Given the description of an element on the screen output the (x, y) to click on. 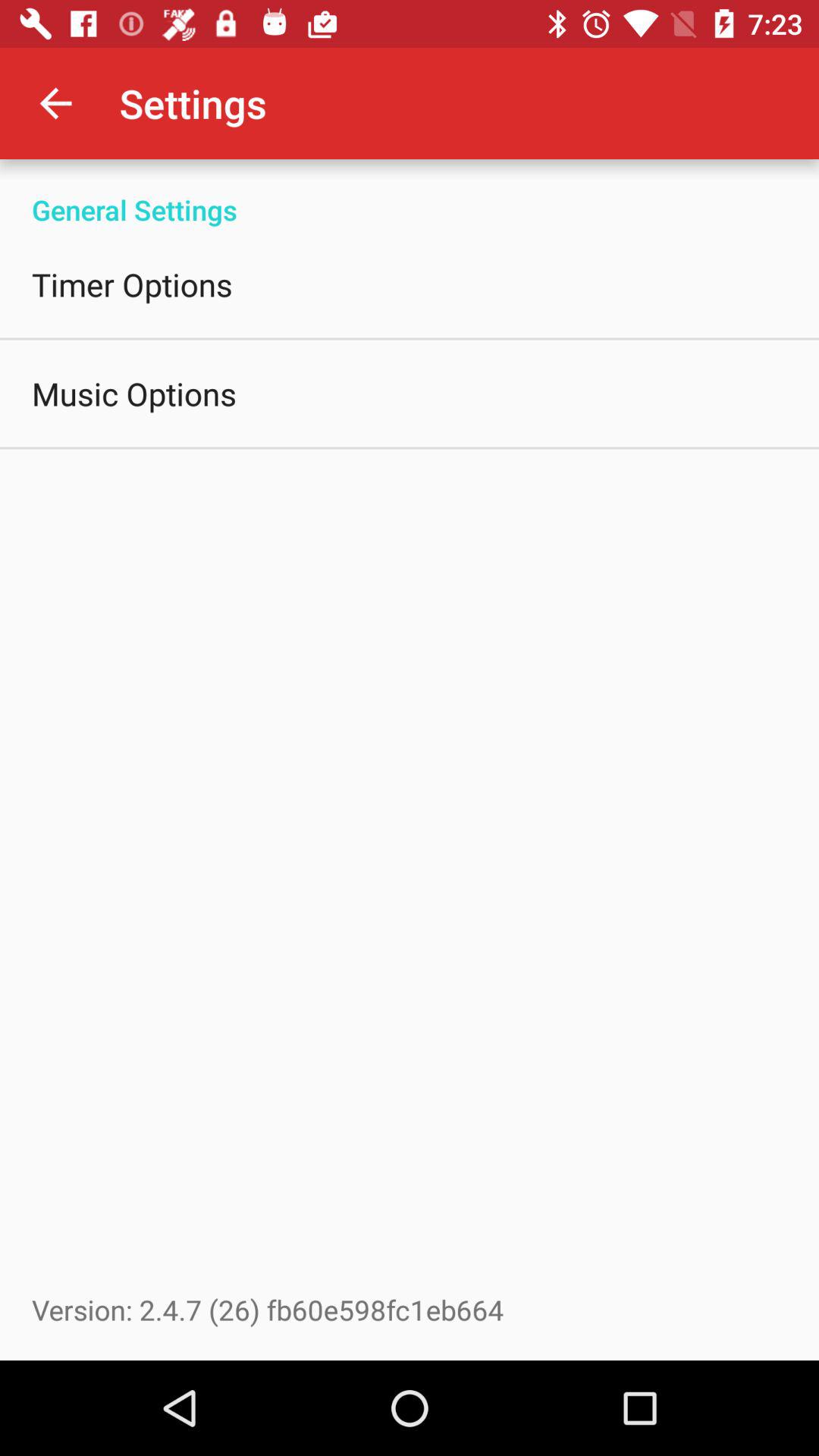
jump until the timer options (131, 283)
